Given the description of an element on the screen output the (x, y) to click on. 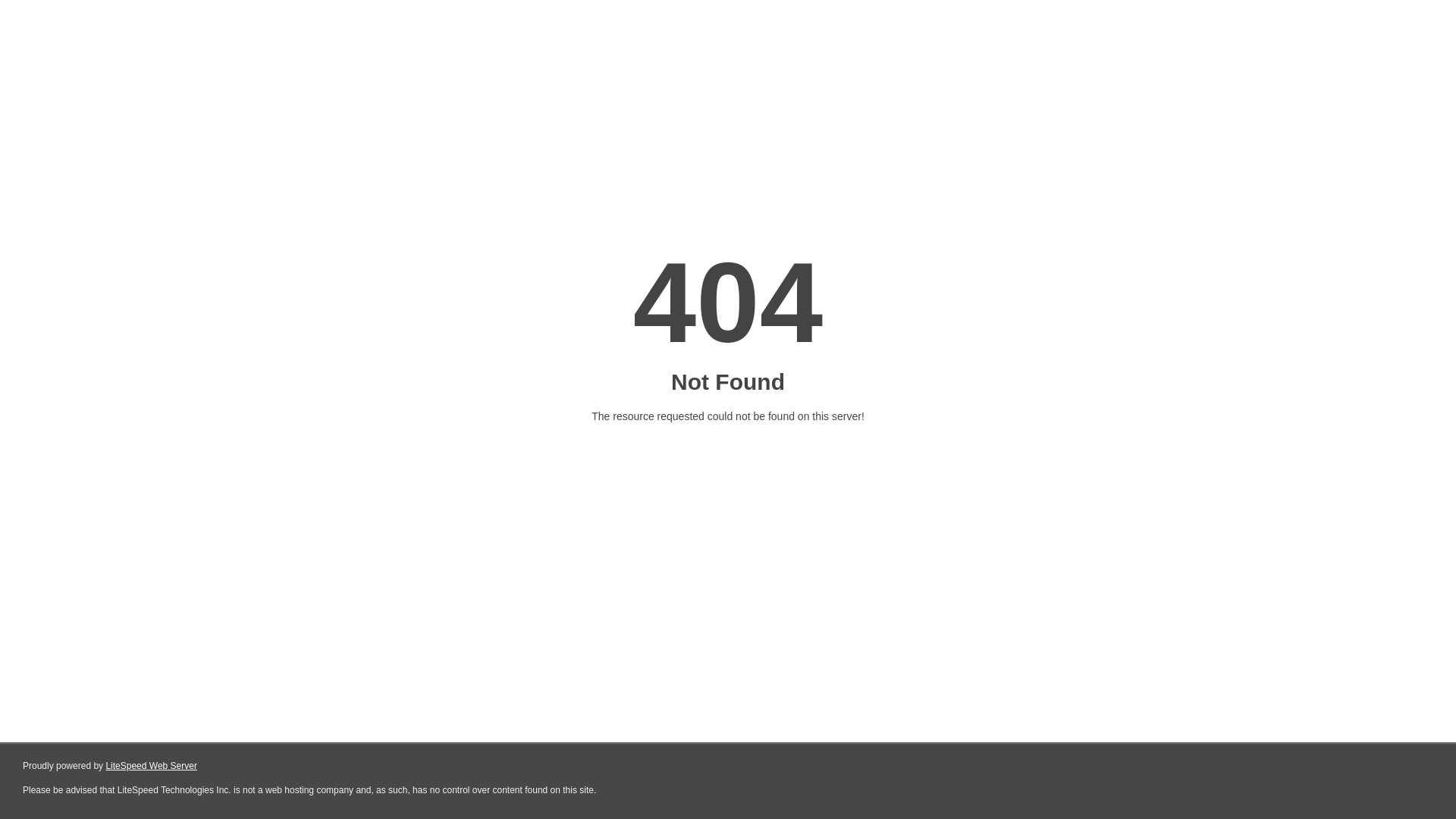
LiteSpeed Web Server Element type: text (151, 765)
